Given the description of an element on the screen output the (x, y) to click on. 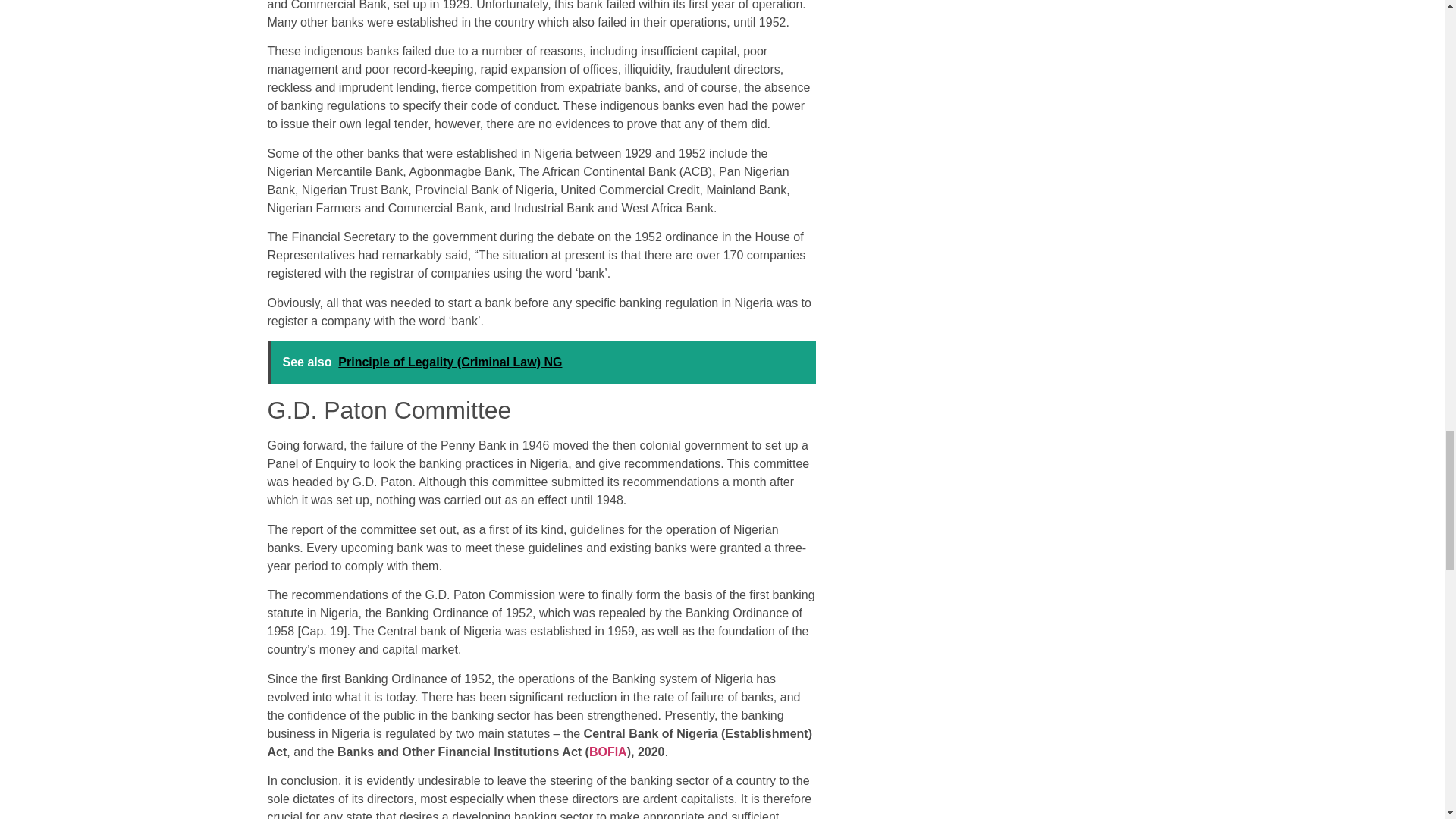
BOFIA (608, 750)
